Given the description of an element on the screen output the (x, y) to click on. 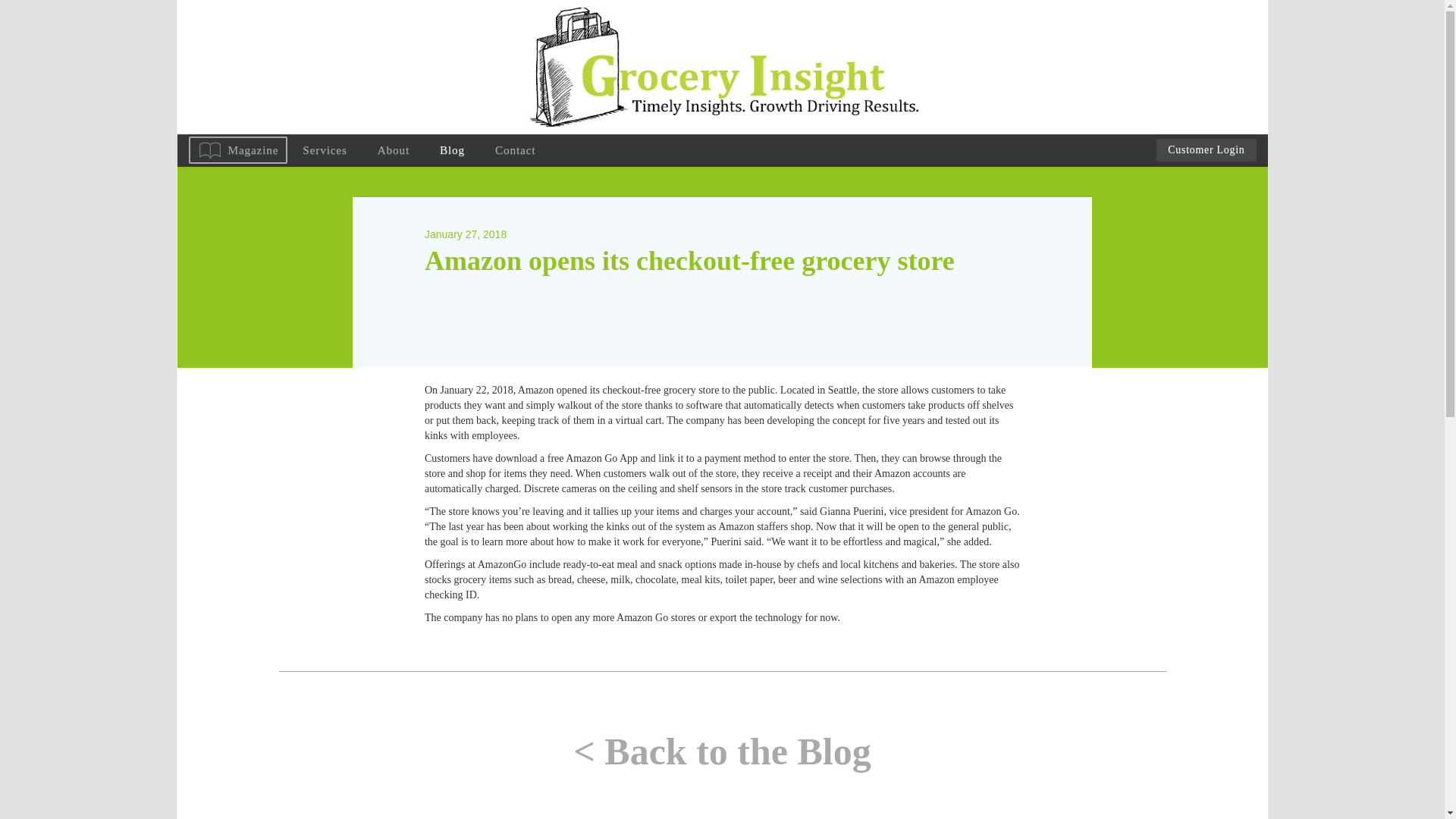
Magazine (237, 150)
About (393, 149)
Blog (452, 149)
Services (323, 149)
Customer Login (1205, 149)
Contact (515, 149)
